Given the description of an element on the screen output the (x, y) to click on. 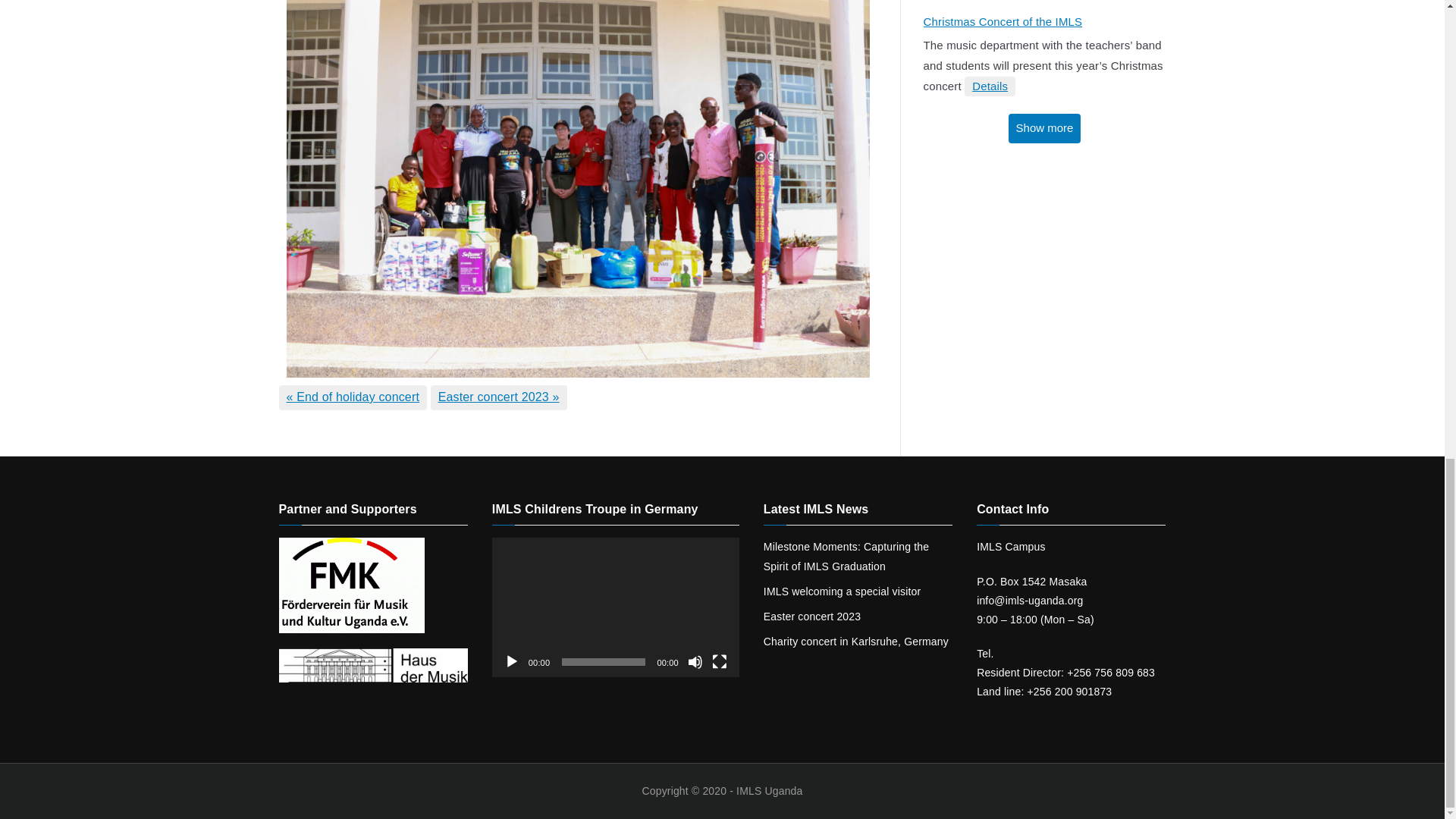
Continue reading Christmas Concert of the IMLS (988, 86)
Play (511, 661)
Mute (695, 661)
Fullscreen (718, 661)
